Given the description of an element on the screen output the (x, y) to click on. 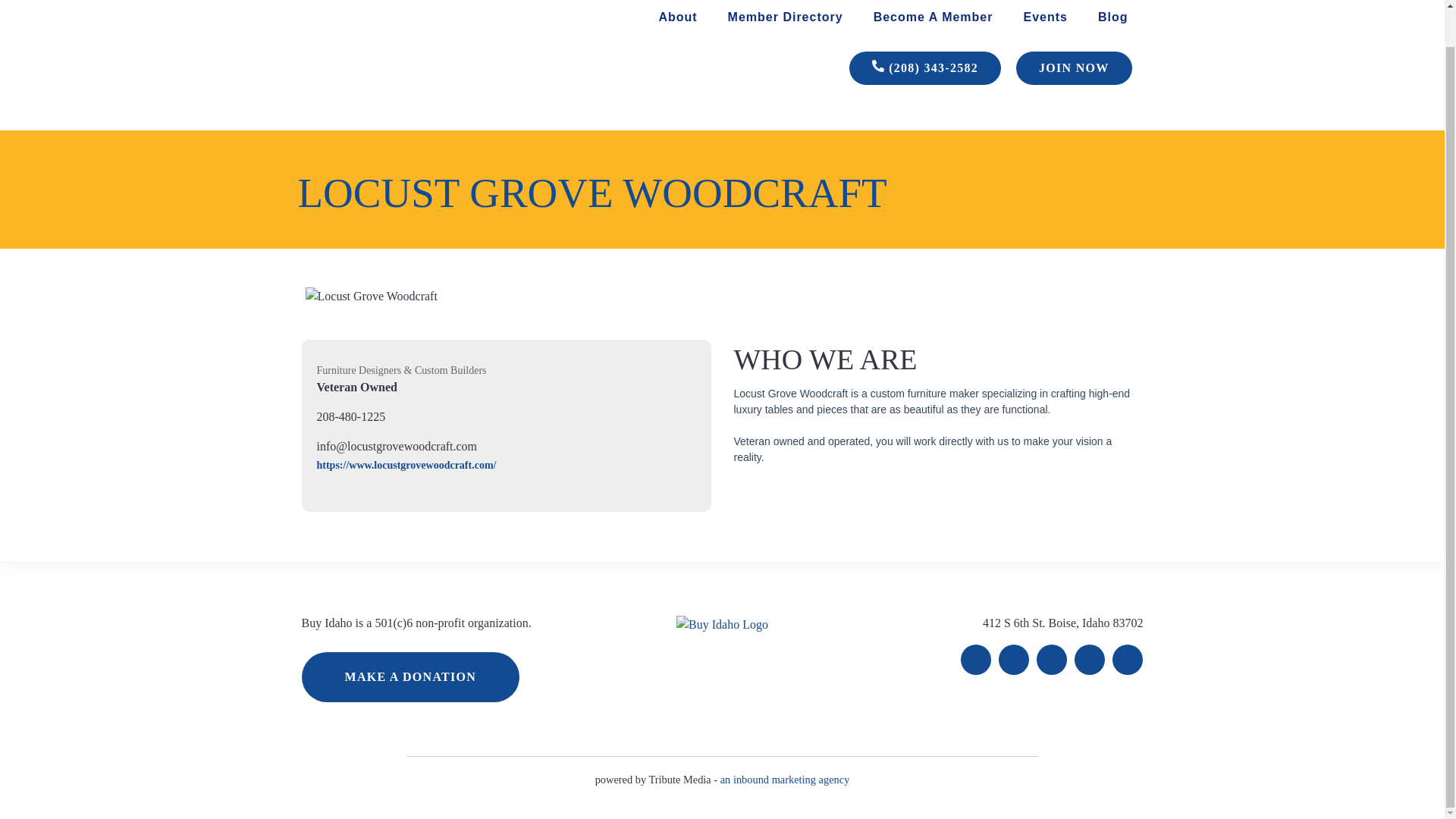
Member Directory (785, 17)
About (677, 17)
JOIN NOW (1073, 68)
Make A Donation (410, 676)
Become A Member (932, 17)
Blog (1112, 17)
an inbound marketing agency (785, 779)
Home (376, 2)
Events (1045, 17)
MAKE A DONATION (410, 676)
